Given the description of an element on the screen output the (x, y) to click on. 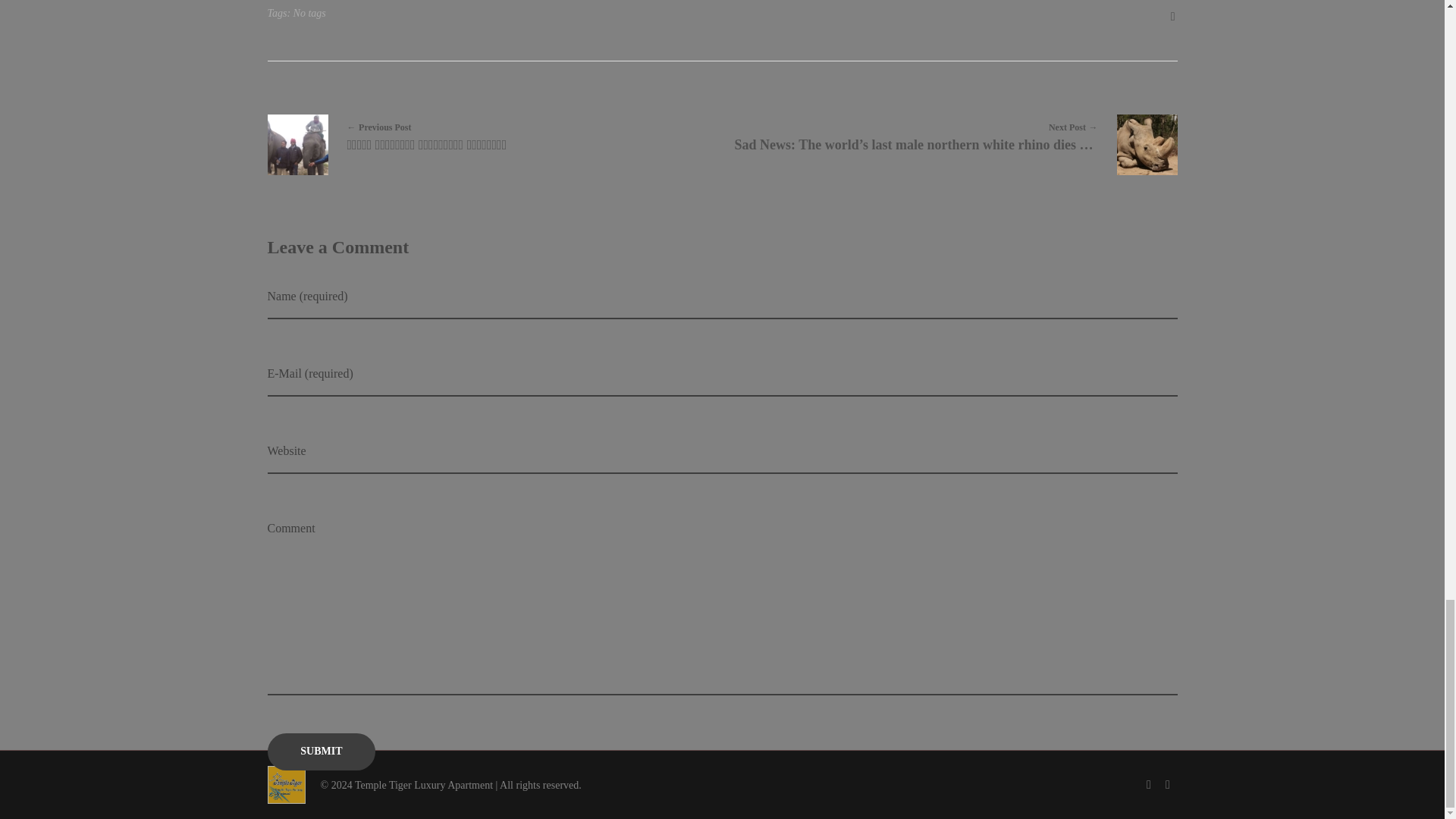
Submit (320, 751)
Submit (320, 751)
